Given the description of an element on the screen output the (x, y) to click on. 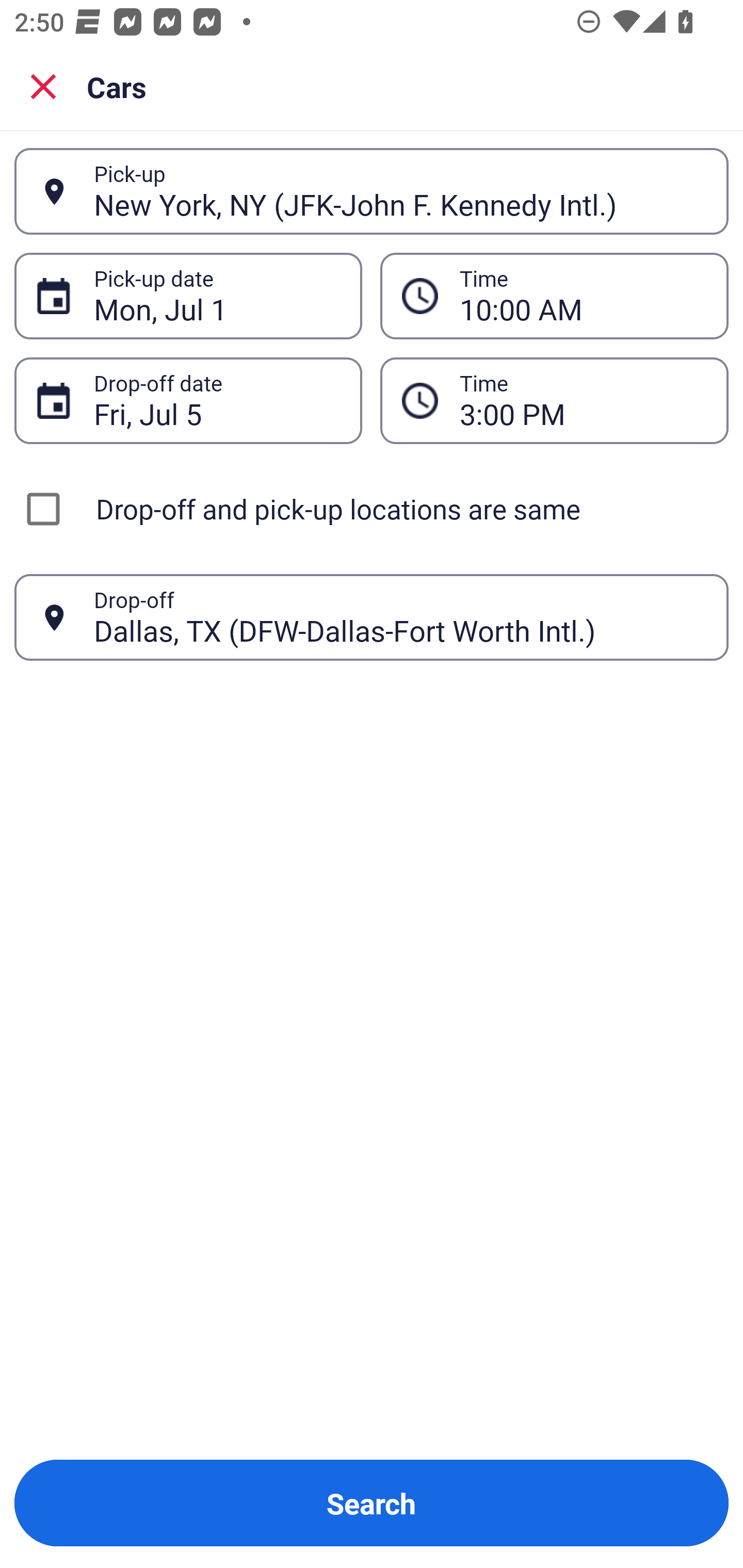
Close search screen (43, 86)
New York, NY (JFK-John F. Kennedy Intl.) Pick-up (371, 191)
New York, NY (JFK-John F. Kennedy Intl.) (399, 191)
Mon, Jul 1 Pick-up date (188, 295)
10:00 AM (554, 295)
Mon, Jul 1 (216, 296)
10:00 AM (582, 296)
Fri, Jul 5 Drop-off date (188, 400)
3:00 PM (554, 400)
Fri, Jul 5 (216, 400)
3:00 PM (582, 400)
Drop-off and pick-up locations are same (371, 508)
Dallas, TX (DFW-Dallas-Fort Worth Intl.) Drop-off (371, 616)
Dallas, TX (DFW-Dallas-Fort Worth Intl.) (399, 616)
Search Button Search (371, 1502)
